Given the description of an element on the screen output the (x, y) to click on. 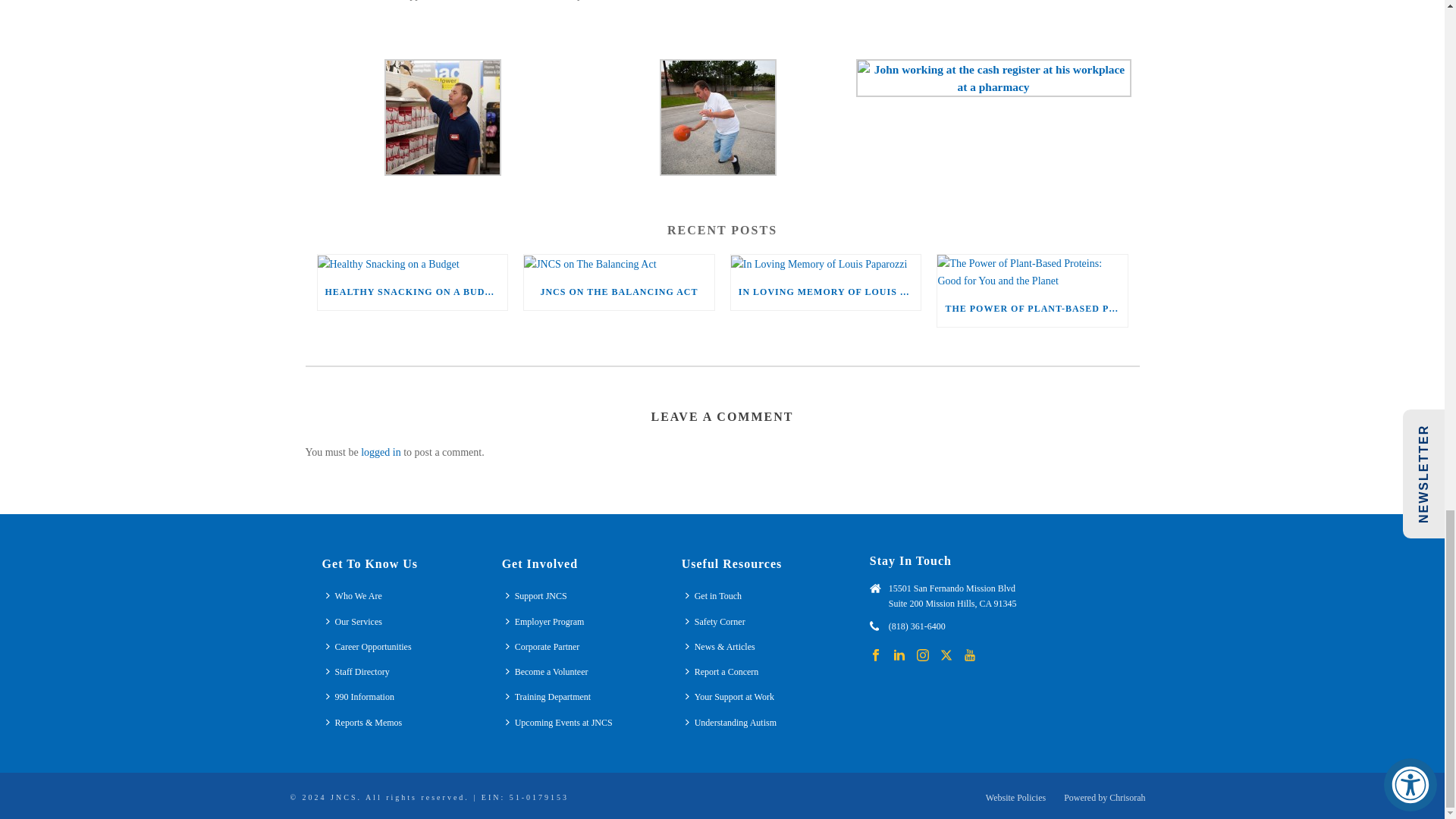
JNCS on The Balancing Act (619, 263)
Healthy Snacking on a Budget (411, 263)
In Loving Memory of Louis Paparozzi (825, 263)
Follow Us on twitter (946, 655)
